Given the description of an element on the screen output the (x, y) to click on. 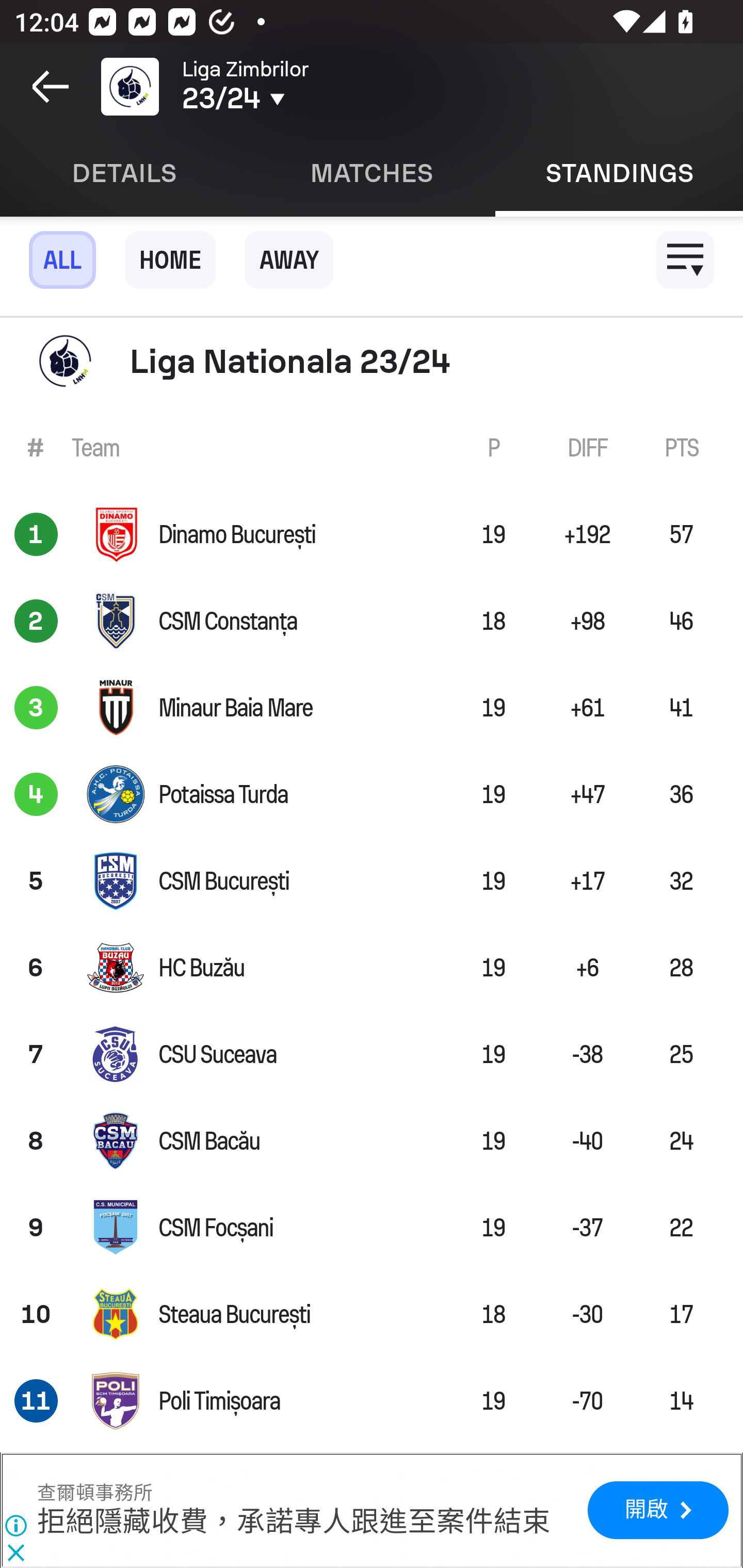
Navigate up (50, 86)
23/24 (300, 98)
Details DETAILS (123, 173)
Matches MATCHES (371, 173)
ALL (62, 259)
HOME (170, 259)
AWAY (288, 259)
Liga Nationala 23/24 (371, 361)
# Team P DIFF PTS (371, 447)
1 Dinamo București 19 +192 57 (371, 533)
1 (36, 533)
2 CSM Constanța  18 +98 46 (371, 620)
2 (36, 620)
3 Minaur Baia Mare 19 +61 41 (371, 707)
3 (36, 707)
4 Potaissa Turda 19 +47 36 (371, 794)
4 (36, 794)
5 CSM București 19 +17 32 (371, 880)
5 (36, 880)
6 HC Buzău 19 +6 28 (371, 967)
6 (36, 967)
7 CSU Suceava 19 -38 25 (371, 1054)
7 (36, 1054)
8 CSM Bacău 19 -40 24 (371, 1140)
8 (36, 1140)
9 CSM Focșani 19 -37 22 (371, 1227)
9 (36, 1227)
10 Steaua București 18 -30 17 (371, 1314)
10 (36, 1314)
11 Poli Timișoara 19 -70 14 (371, 1400)
11 (36, 1400)
查爾頓事務所 (94, 1493)
開啟 (657, 1511)
拒絕隱藏收費，承諾專人跟進至案件結束 (293, 1523)
